Given the description of an element on the screen output the (x, y) to click on. 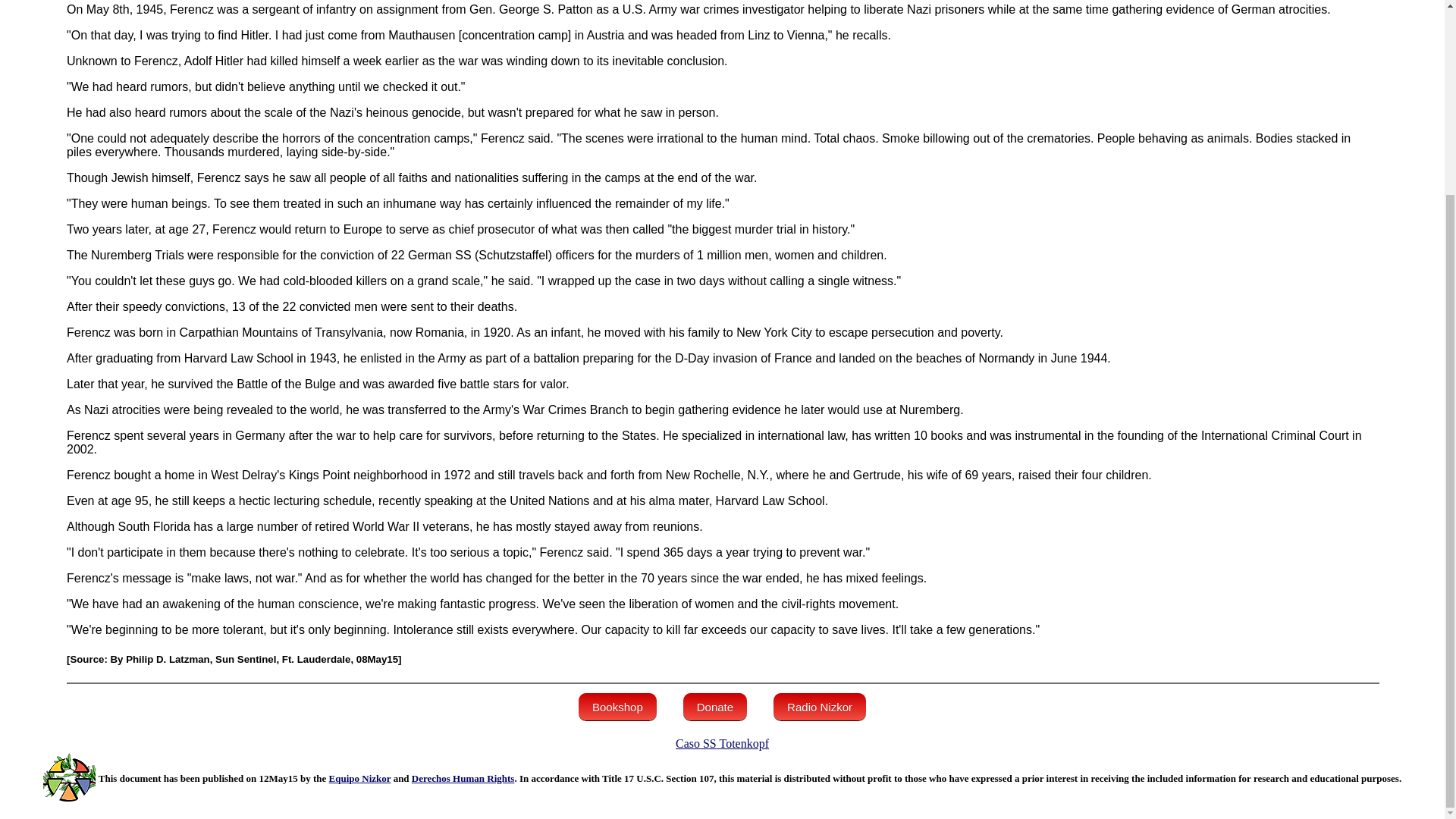
Radio Nizkor (819, 706)
Donate (714, 706)
Derechos Human Rights (463, 778)
Bookshop (617, 706)
Caso SS Totenkopf (721, 743)
Equipo Nizkor (360, 778)
